Given the description of an element on the screen output the (x, y) to click on. 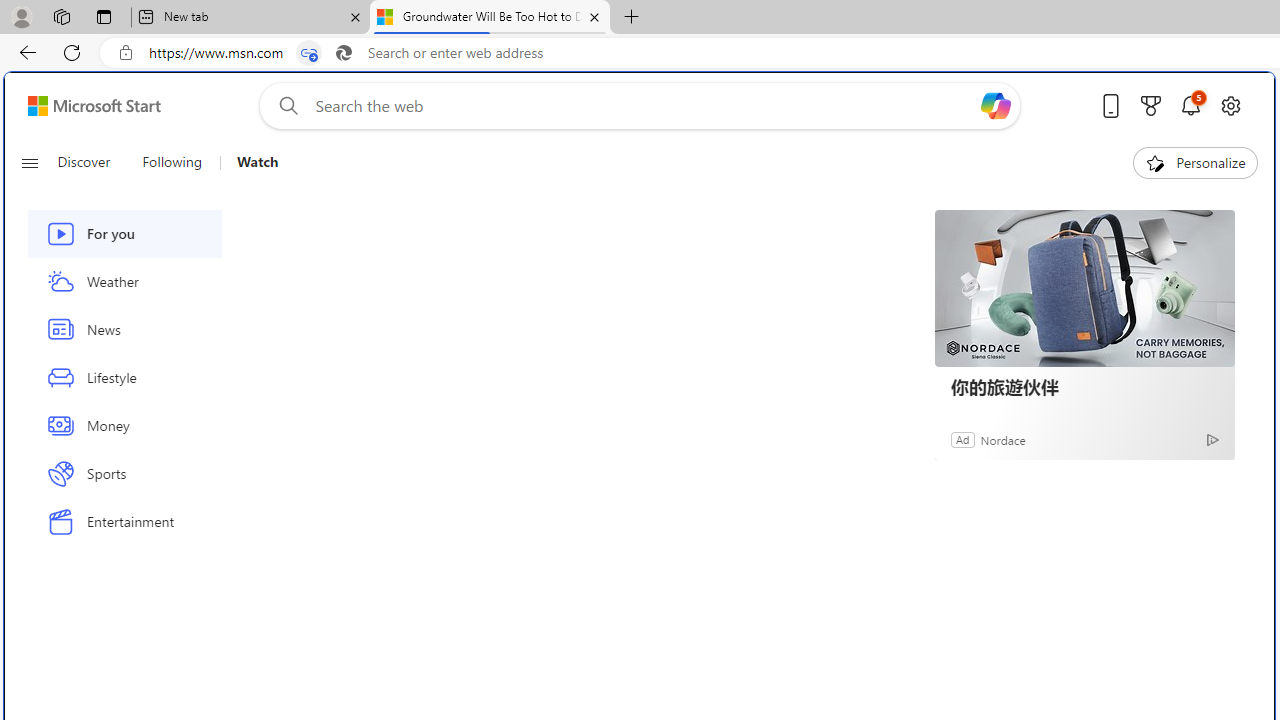
Close tab (594, 16)
Class: button-glyph (29, 162)
Ad (963, 439)
Tabs in split screen (308, 53)
Search icon (343, 53)
Discover (84, 162)
Nordace (1003, 439)
Skip to content (86, 105)
Notifications (1190, 105)
Watch (257, 162)
Refresh (72, 52)
